Given the description of an element on the screen output the (x, y) to click on. 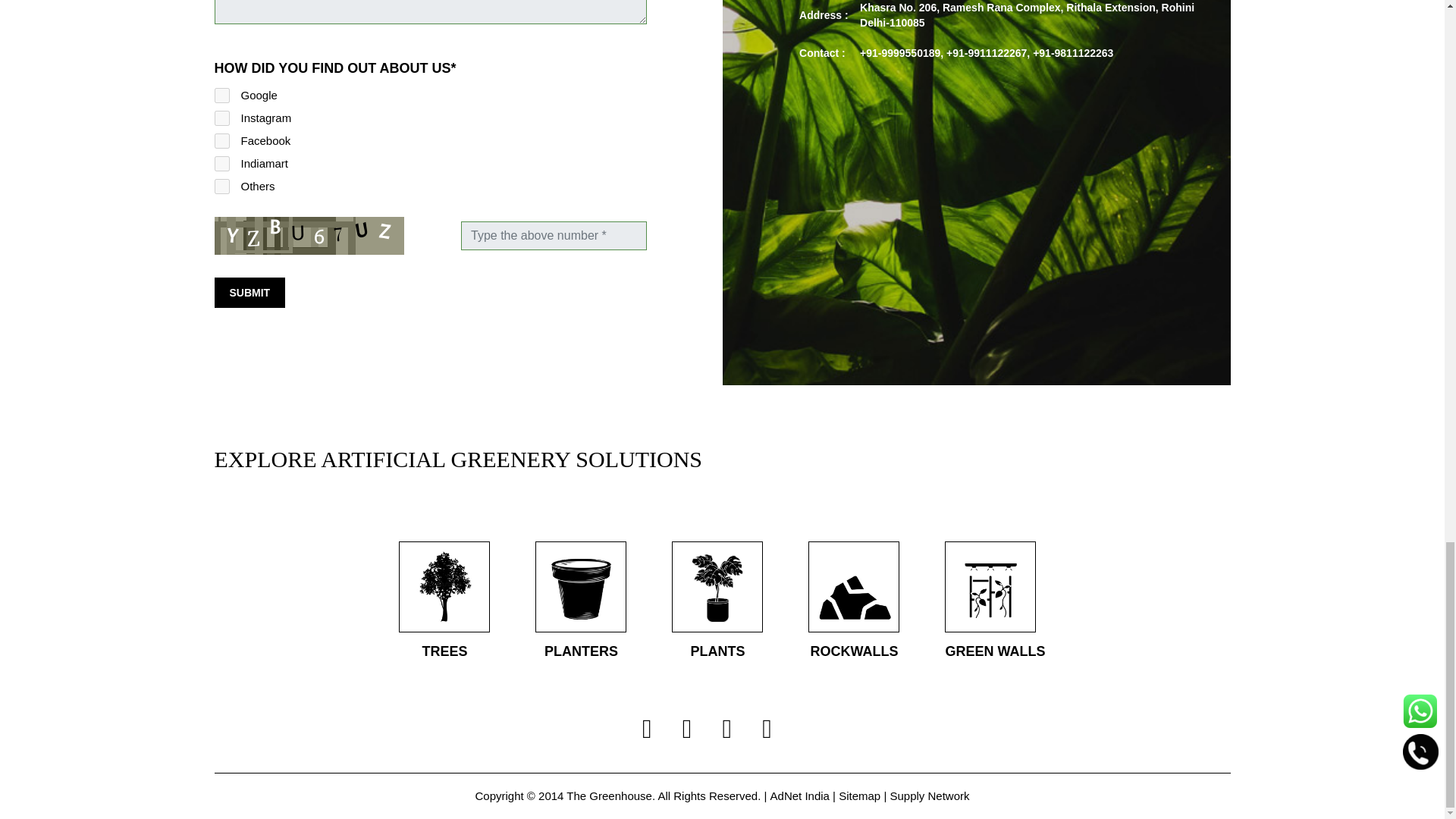
GREEN WALLS (994, 601)
ROCKWALLS (853, 601)
PLANTS (716, 601)
SUBMIT (249, 292)
Instagram (221, 118)
Google (221, 95)
Indiamart (221, 163)
PLANTERS (580, 601)
Others (221, 186)
TREES (443, 601)
AdNet India (799, 795)
Facebook (221, 140)
Sitemap (859, 795)
